Given the description of an element on the screen output the (x, y) to click on. 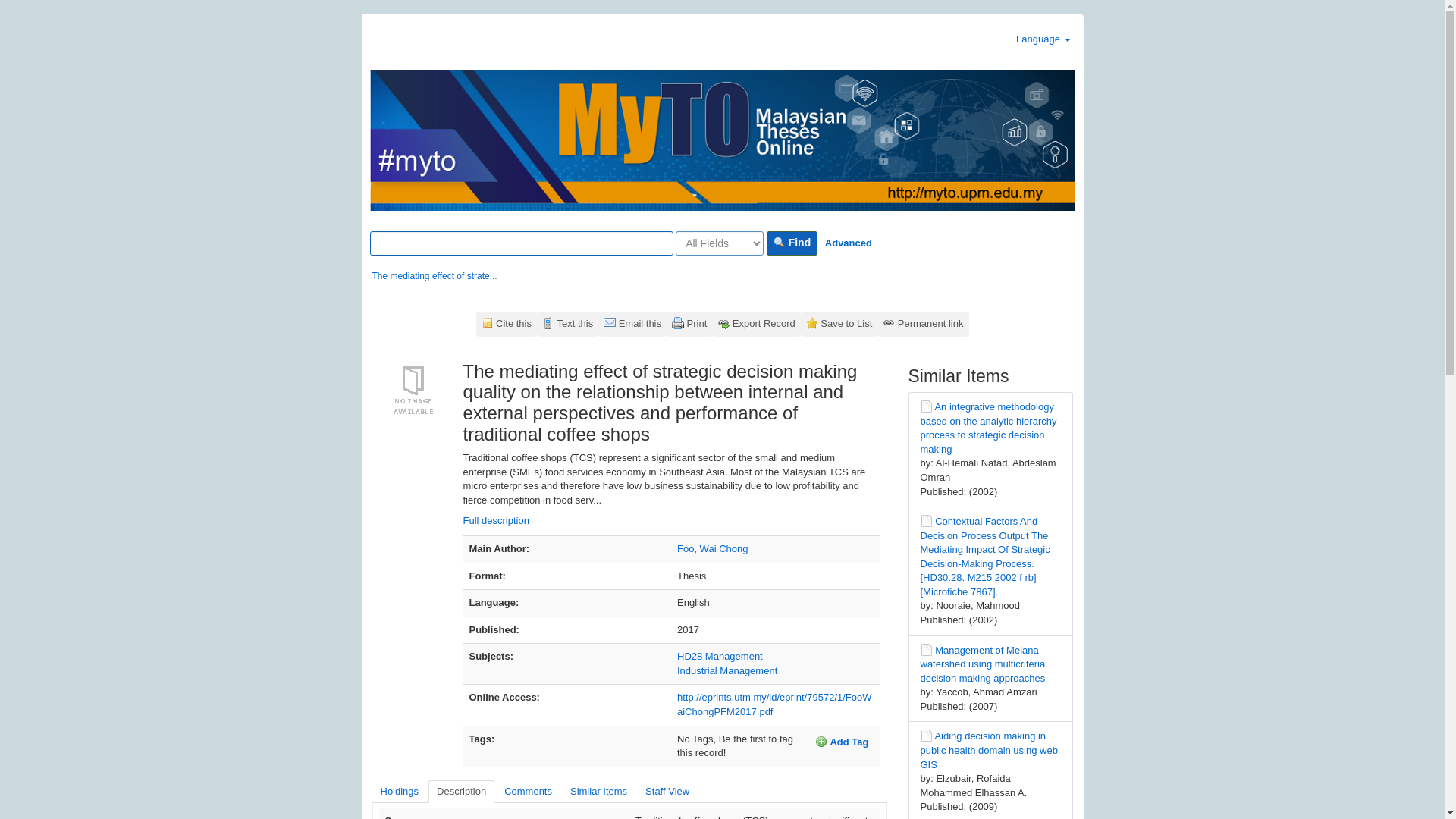
Industrial Management (727, 670)
Advanced (848, 243)
HD28 Management (719, 655)
HD28 Management (719, 655)
Foo, Wai Chong (712, 548)
Save to List (838, 324)
Comments (528, 791)
The mediating effect of strate... (433, 276)
Export Record (755, 324)
Staff View (667, 791)
